Given the description of an element on the screen output the (x, y) to click on. 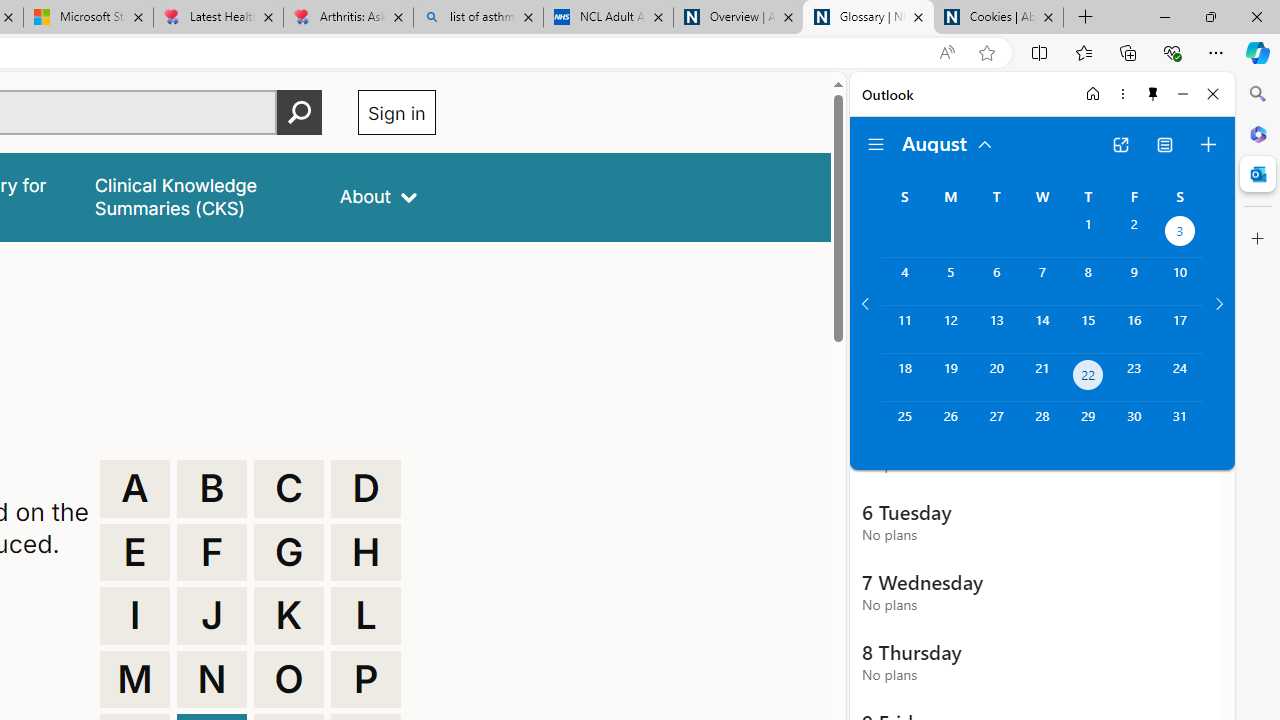
Tuesday, August 6, 2024.  (996, 281)
Split screen (1039, 52)
Wednesday, August 7, 2024.  (1042, 281)
Monday, August 12, 2024.  (950, 329)
Saturday, August 3, 2024. Date selected.  (1180, 233)
L (365, 615)
J (212, 615)
Add this page to favorites (Ctrl+D) (986, 53)
Thursday, August 29, 2024.  (1088, 425)
Saturday, August 24, 2024.  (1180, 377)
Sign in (396, 112)
I (134, 615)
Tuesday, August 20, 2024.  (996, 377)
Create event (1208, 144)
